Given the description of an element on the screen output the (x, y) to click on. 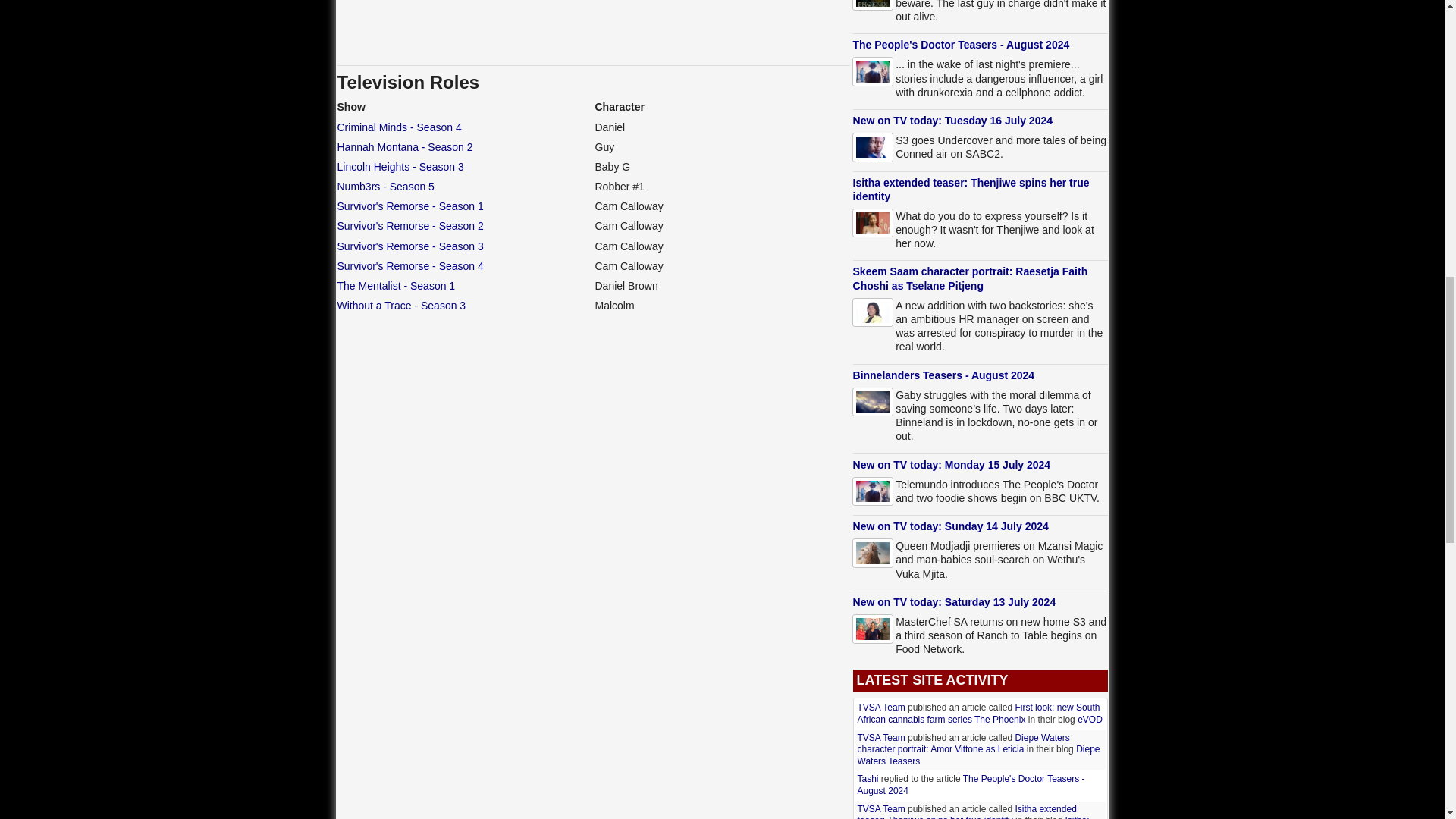
Advertisement (592, 29)
